Given the description of an element on the screen output the (x, y) to click on. 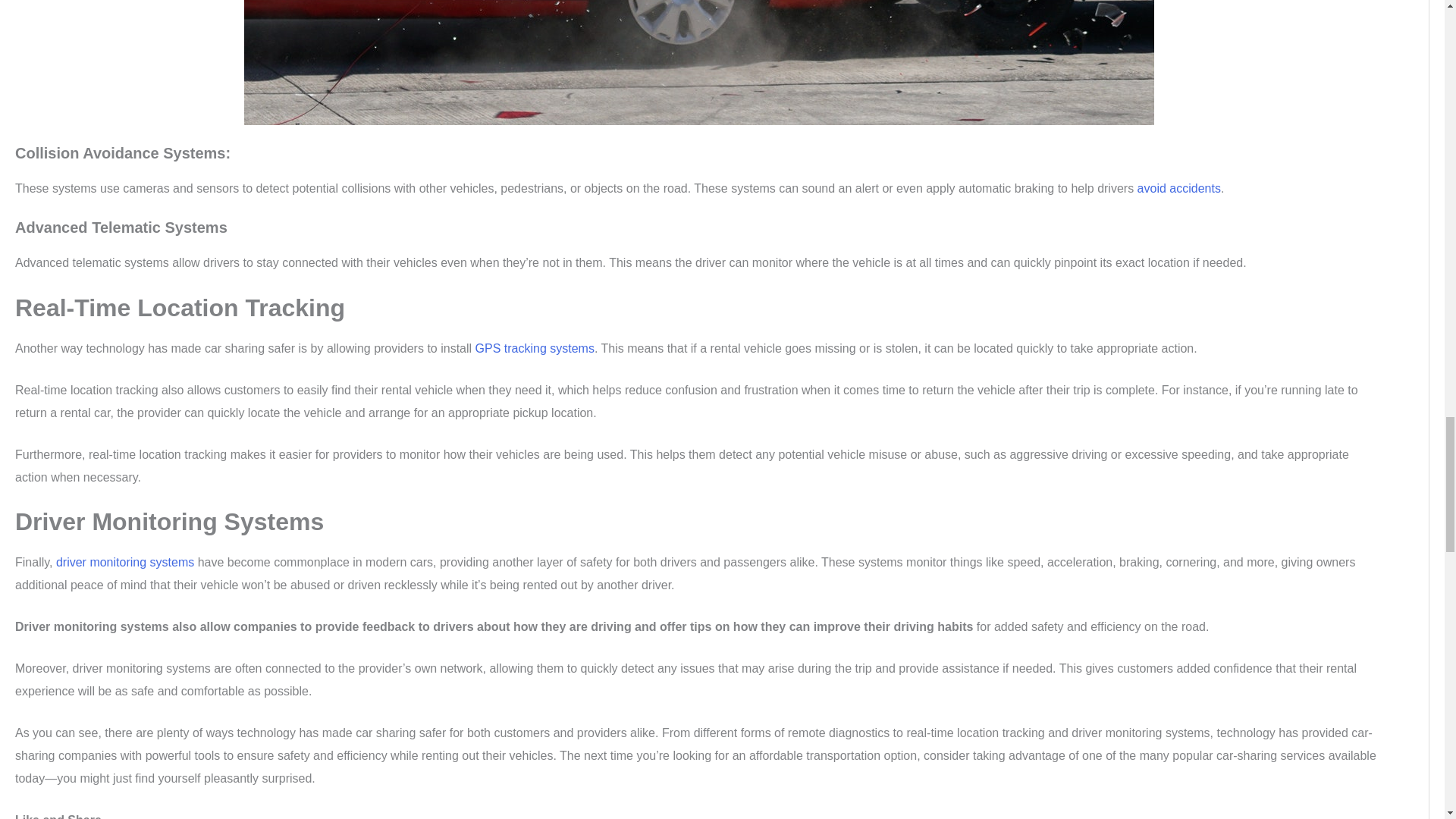
driver monitoring systems (124, 562)
avoid accidents (1179, 187)
GPS tracking systems (535, 348)
